Given the description of an element on the screen output the (x, y) to click on. 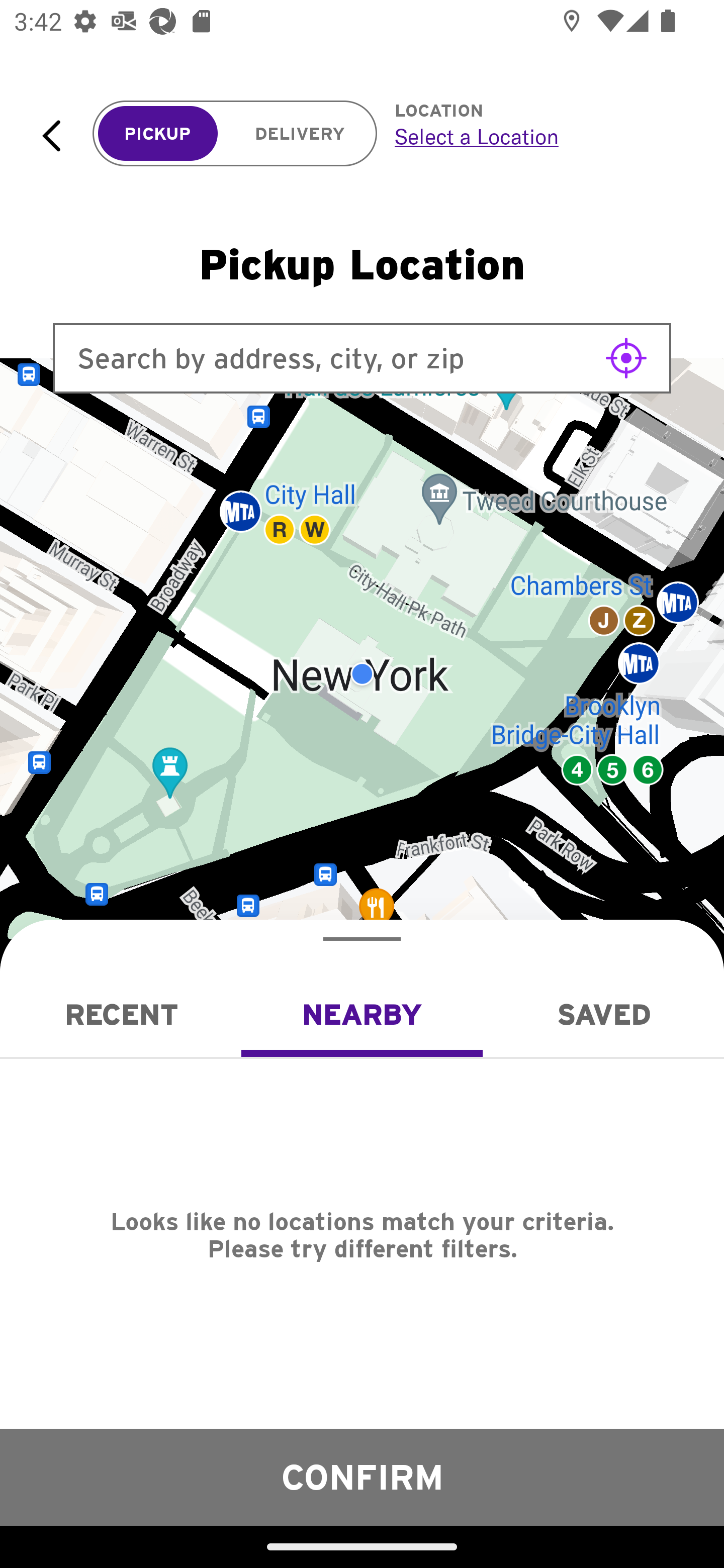
PICKUP (157, 133)
DELIVERY (299, 133)
Select a Location (536, 136)
Search by address, city, or zip (361, 358)
Google Map (362, 674)
Recent RECENT (120, 1014)
Saved SAVED (603, 1014)
CONFIRM (362, 1476)
